Given the description of an element on the screen output the (x, y) to click on. 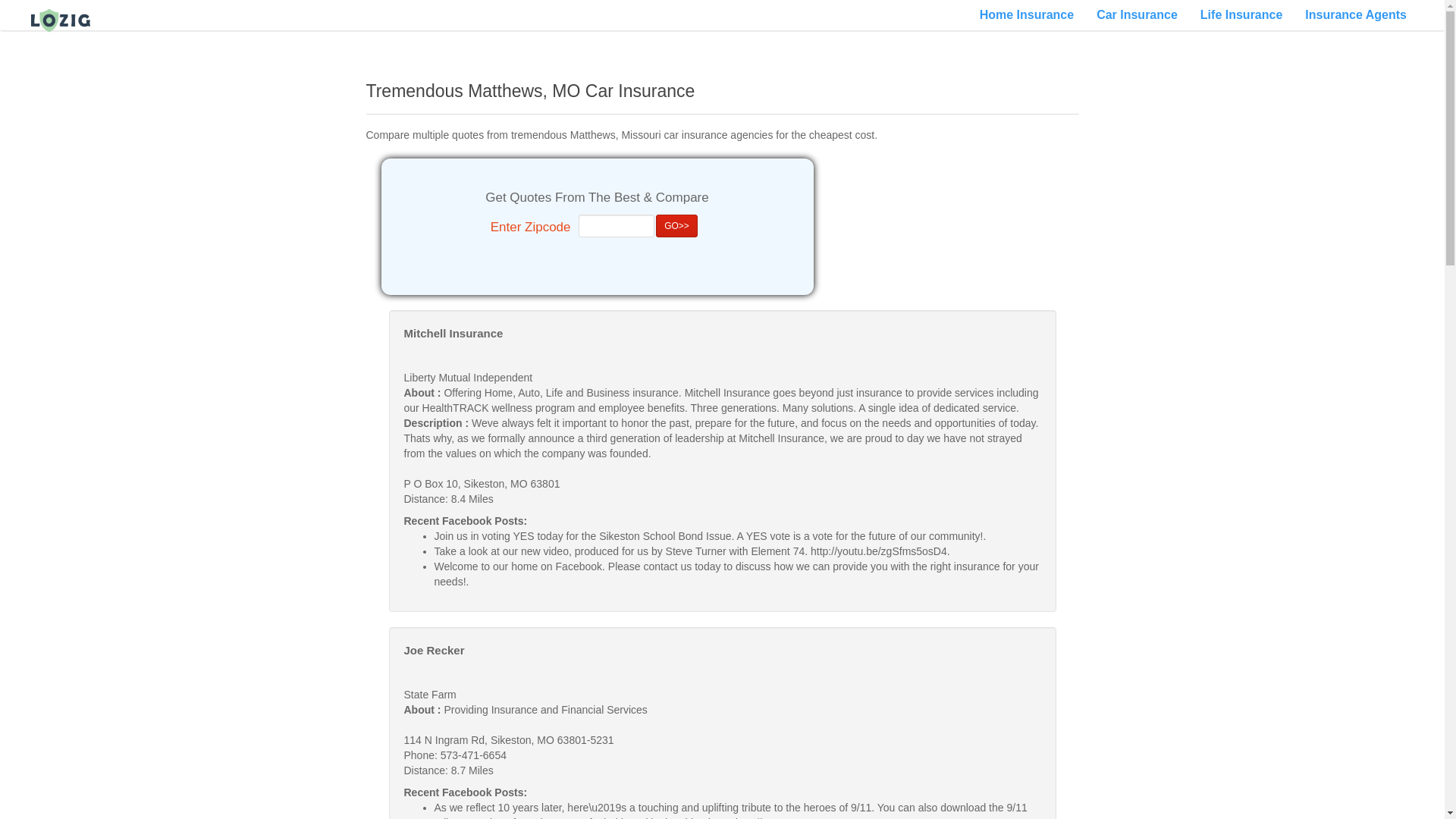
Car Insurance (1136, 15)
Life Insurance (1241, 15)
Insurance Agents (1356, 15)
